Given the description of an element on the screen output the (x, y) to click on. 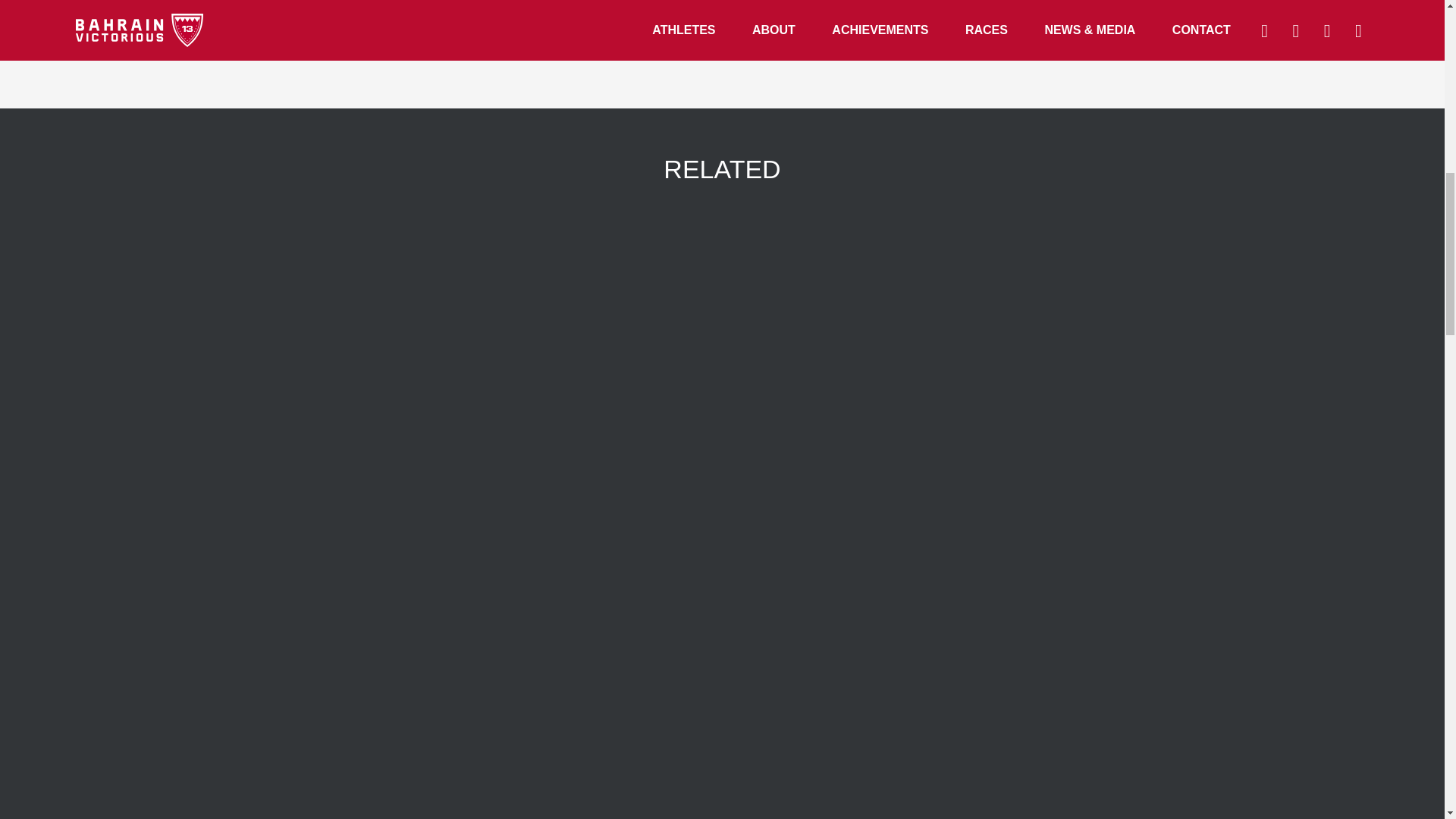
Gmail (863, 18)
Twitter (749, 18)
Facebook (636, 18)
